Given the description of an element on the screen output the (x, y) to click on. 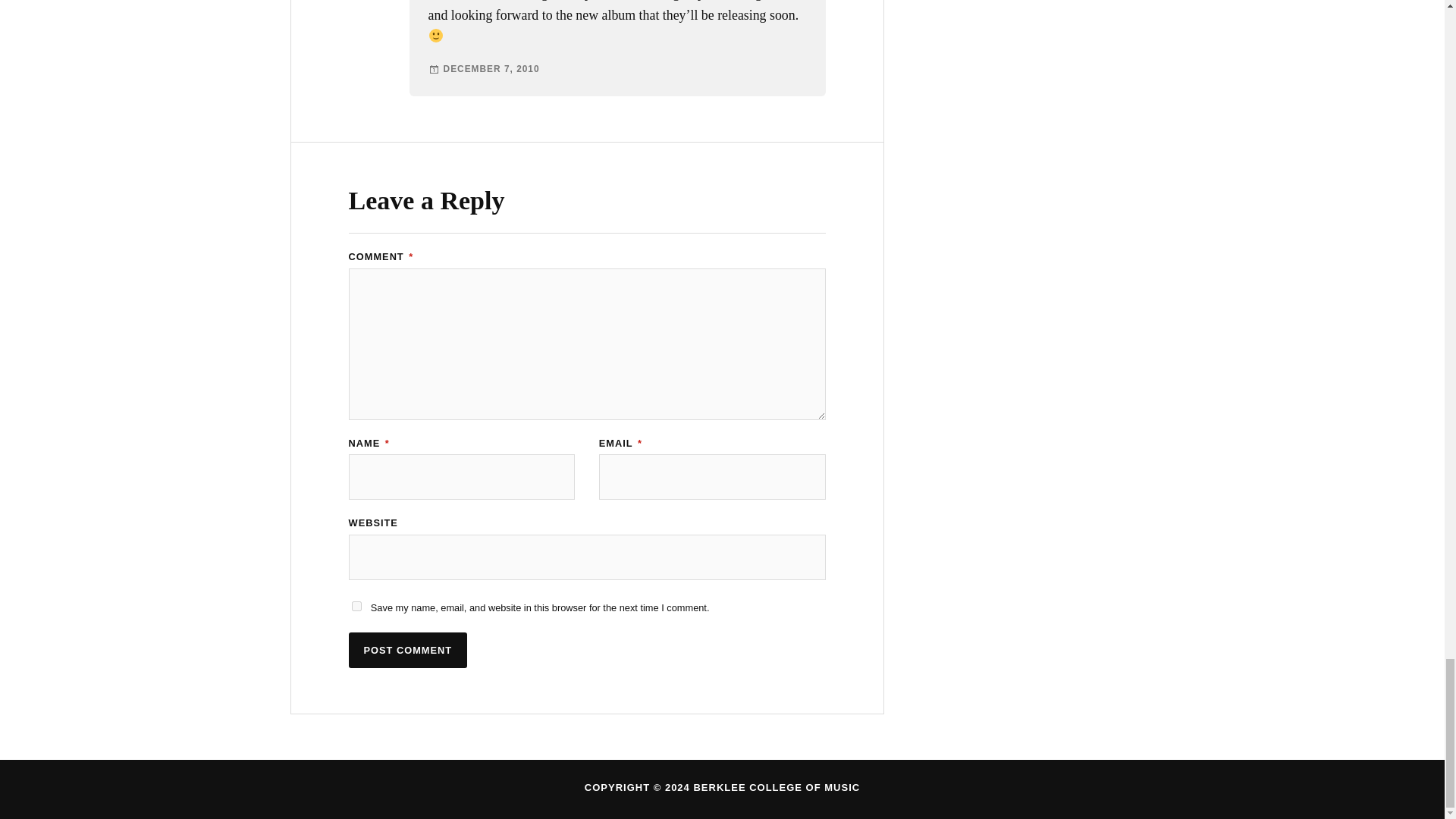
Post Comment (408, 650)
yes (356, 605)
December 7, 2010 at 8:03 am (492, 68)
